Given the description of an element on the screen output the (x, y) to click on. 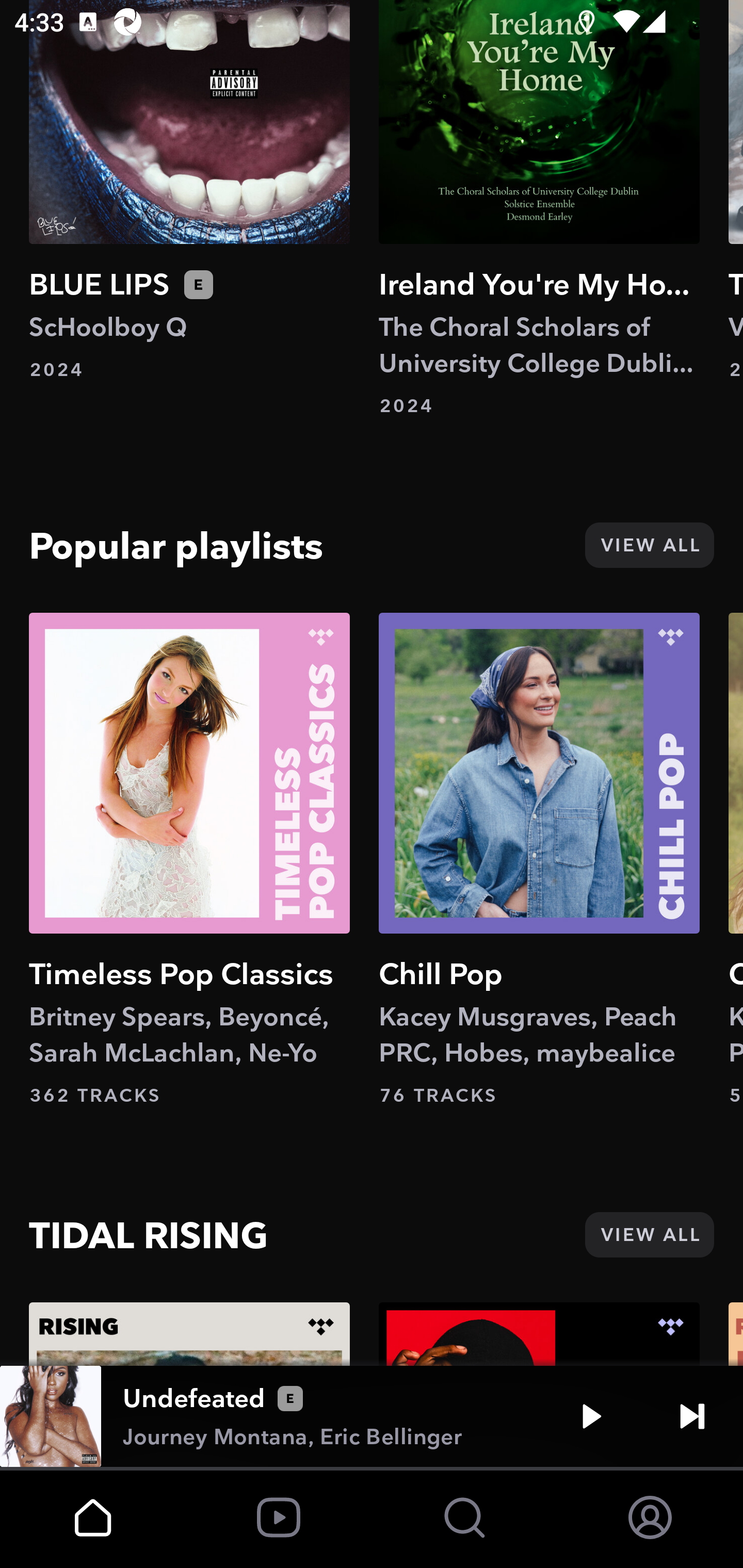
BLUE LIPS ScHoolboy Q 2024 (188, 190)
VIEW ALL (649, 544)
VIEW ALL (649, 1234)
Undefeated    Journey Montana, Eric Bellinger Play (371, 1416)
Play (590, 1416)
